Given the description of an element on the screen output the (x, y) to click on. 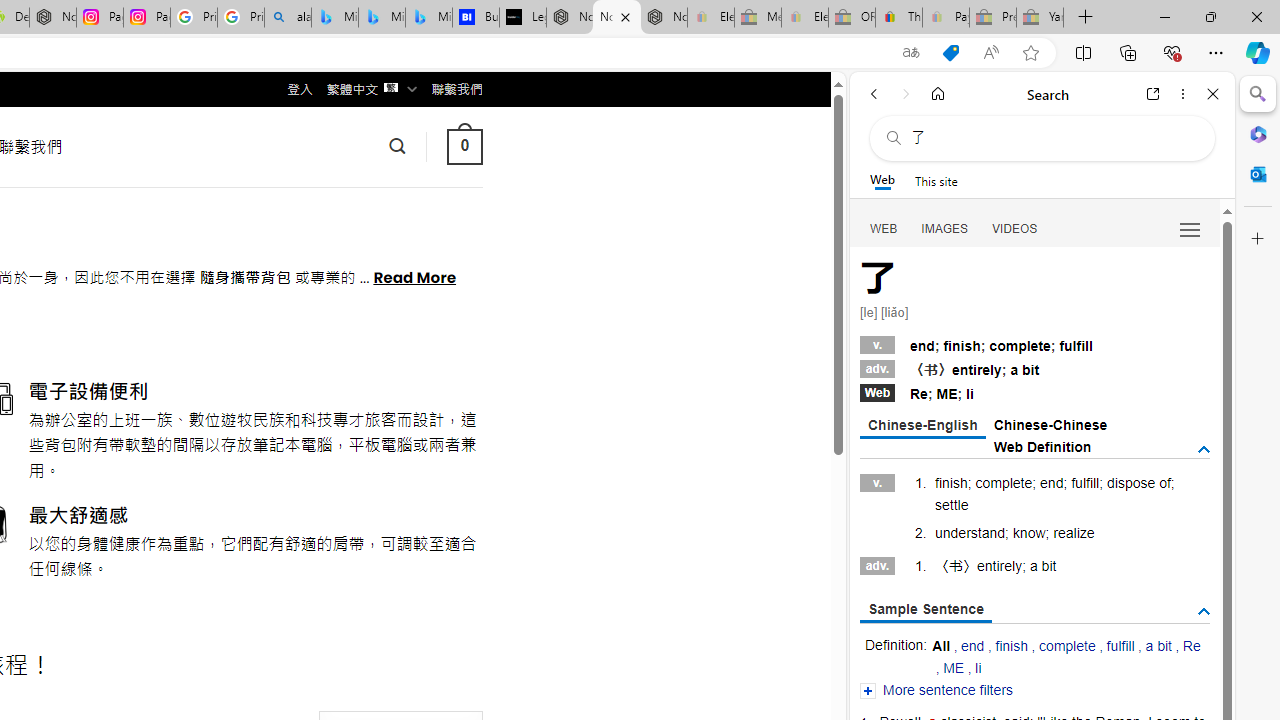
 0  (464, 146)
Yard, Garden & Outdoor Living - Sleeping (1040, 17)
finish (1010, 645)
settle (951, 504)
AutomationID: tgdef_sen (1203, 611)
li (978, 667)
